Given the description of an element on the screen output the (x, y) to click on. 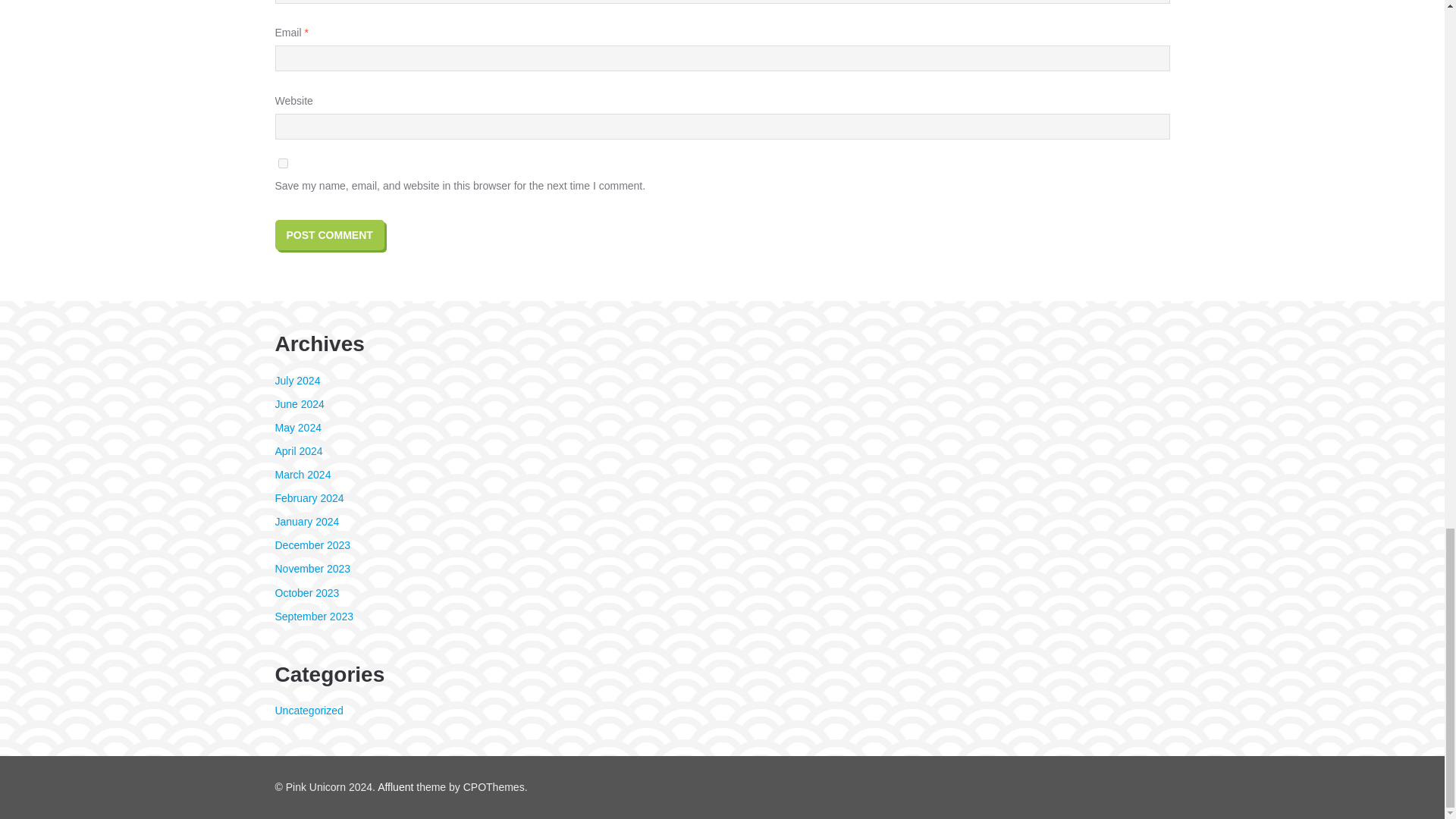
December 2023 (312, 544)
September 2023 (314, 616)
Post Comment (329, 235)
November 2023 (312, 568)
October 2023 (307, 592)
June 2024 (299, 404)
March 2024 (302, 474)
January 2024 (307, 521)
April 2024 (298, 451)
yes (282, 163)
February 2024 (309, 498)
Affluent (395, 787)
Uncategorized (308, 710)
May 2024 (297, 427)
July 2024 (297, 380)
